Given the description of an element on the screen output the (x, y) to click on. 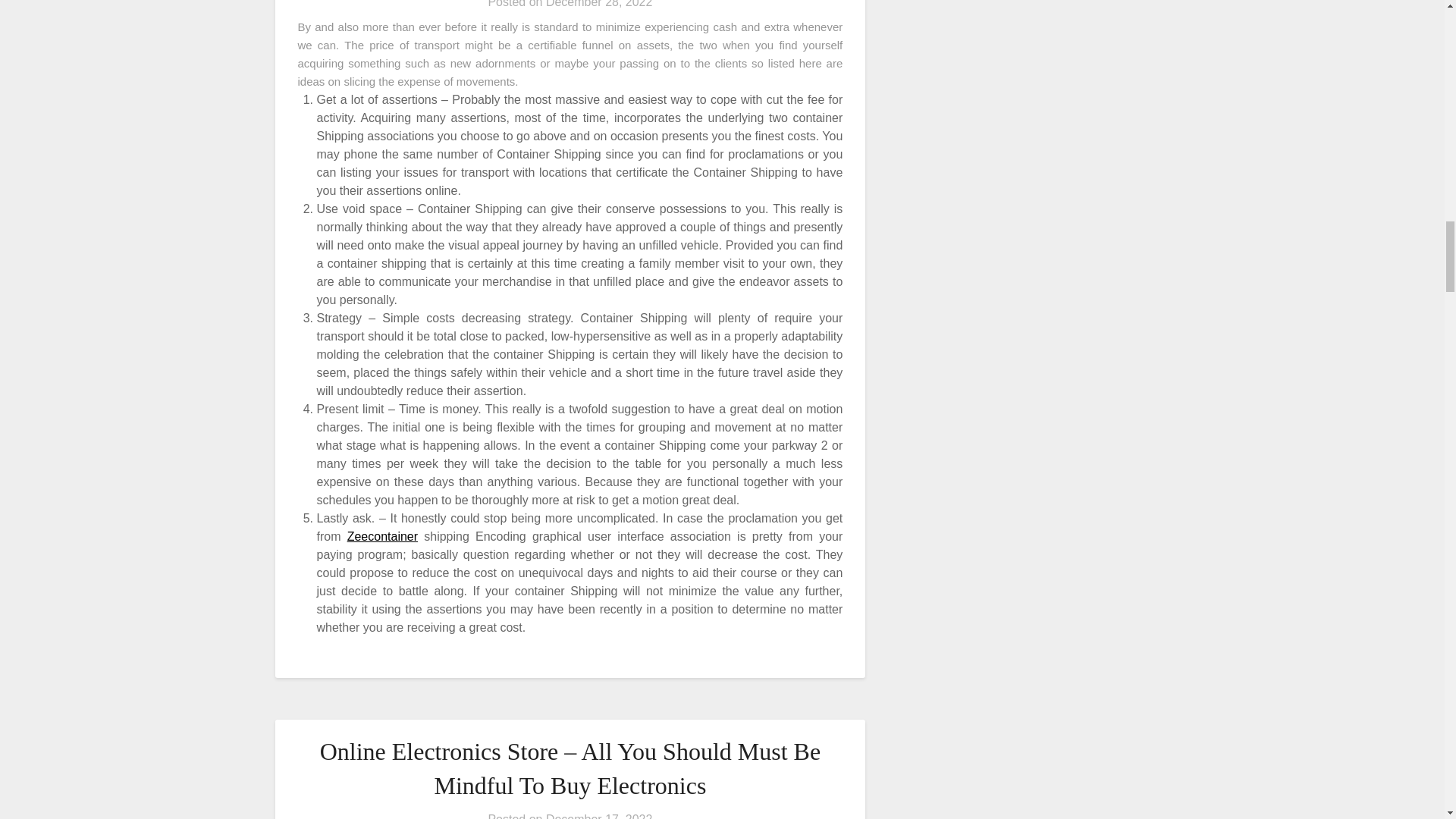
Zeecontainer (382, 535)
December 17, 2022 (599, 816)
December 28, 2022 (599, 4)
